Given the description of an element on the screen output the (x, y) to click on. 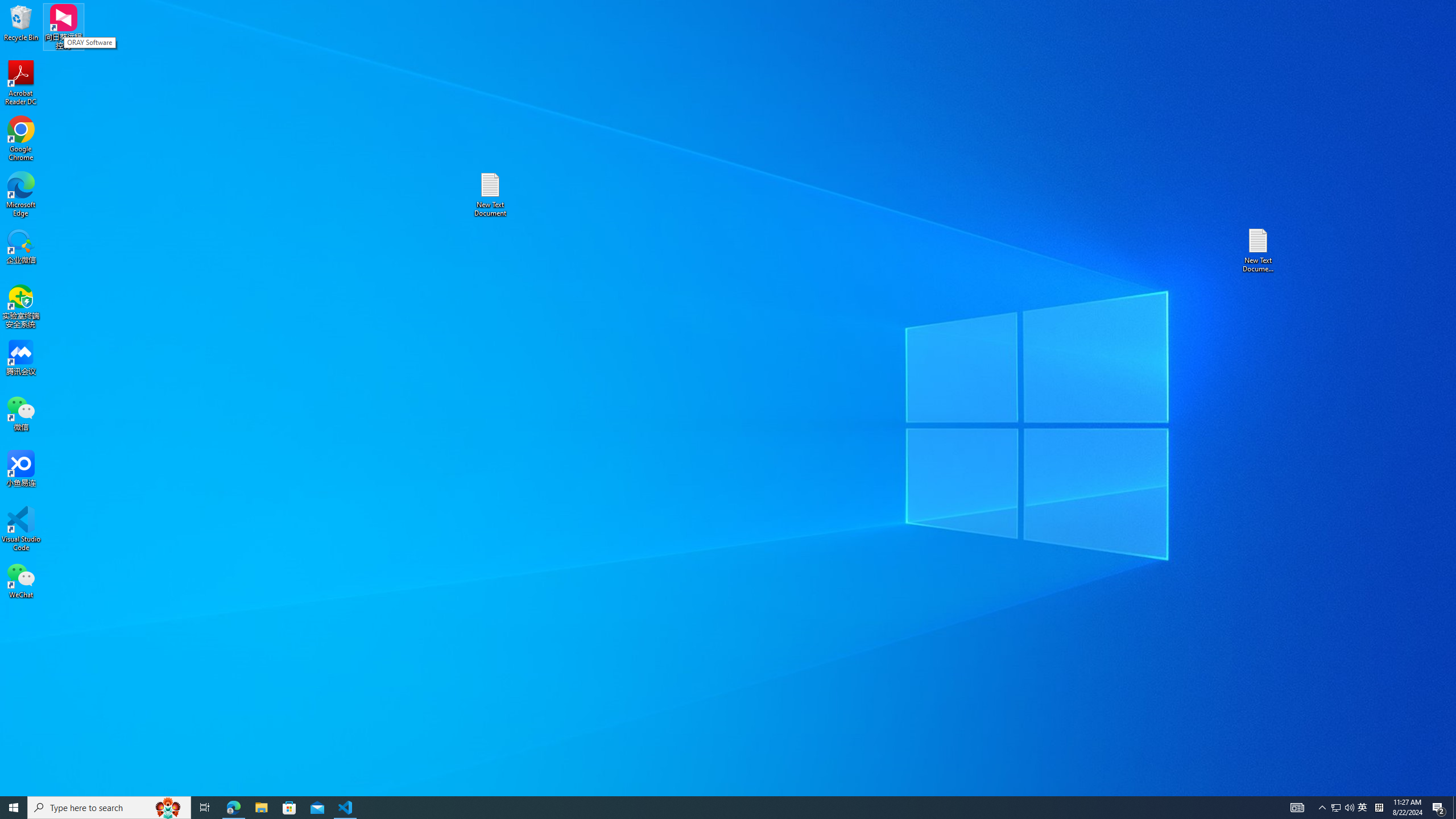
Notification Chevron (1322, 807)
Action Center, 2 new notifications (1439, 807)
Running applications (707, 807)
Acrobat Reader DC (21, 82)
User Promoted Notification Area (1342, 807)
Type here to search (108, 807)
New Text Document (1335, 807)
Google Chrome (489, 194)
Q2790: 100% (21, 138)
